Given the description of an element on the screen output the (x, y) to click on. 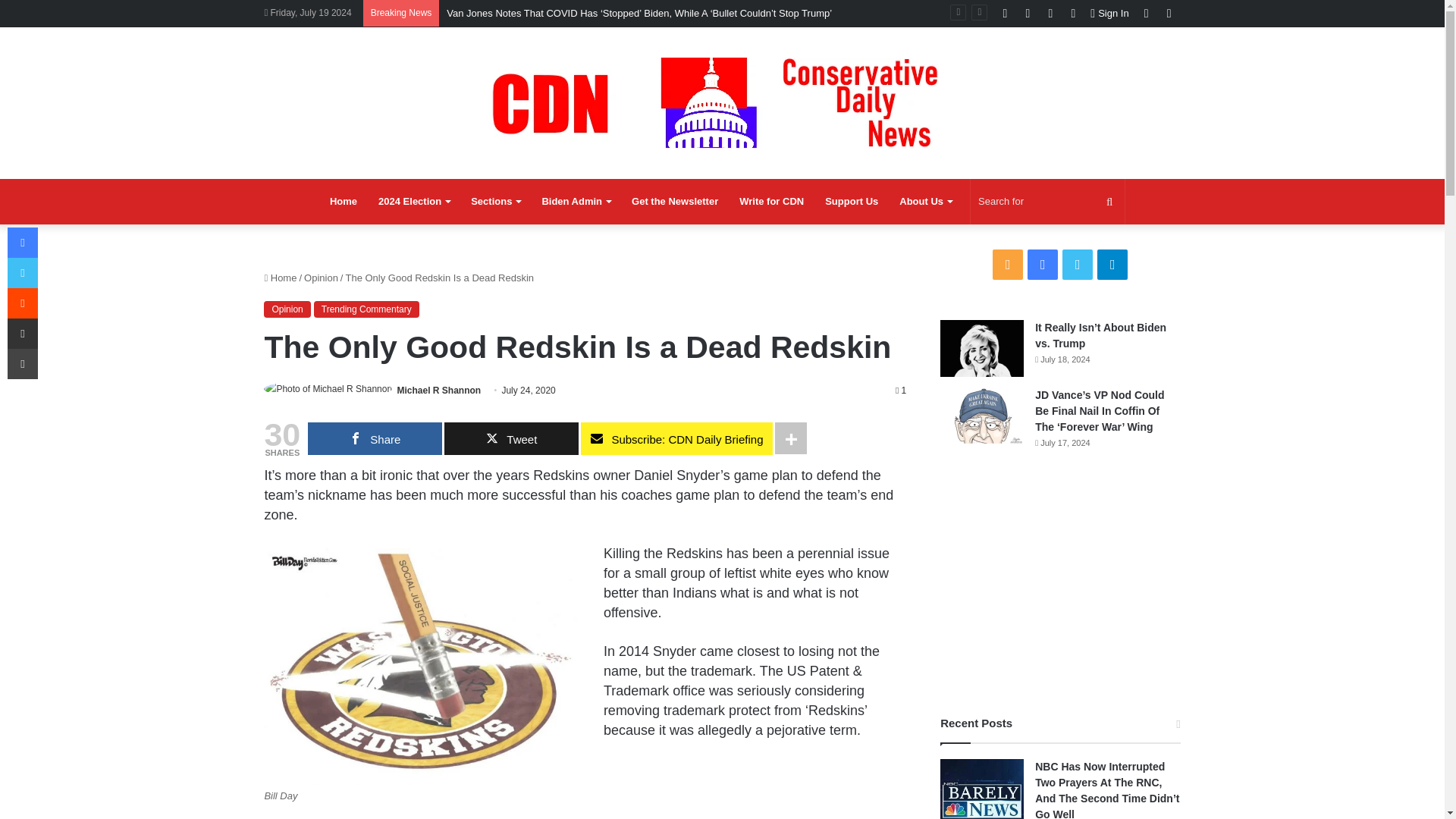
2024 Election (414, 201)
Search for (1047, 201)
About Us (925, 201)
Become a CDN Contributor (771, 201)
Michael R Shannon (438, 389)
Biden Admin (576, 201)
Sections (495, 201)
Support Us (850, 201)
Get the Newsletter (675, 201)
Conservative Daily News (721, 102)
Support CDN With a Small Donation (850, 201)
Write for CDN (771, 201)
Home (343, 201)
